Given the description of an element on the screen output the (x, y) to click on. 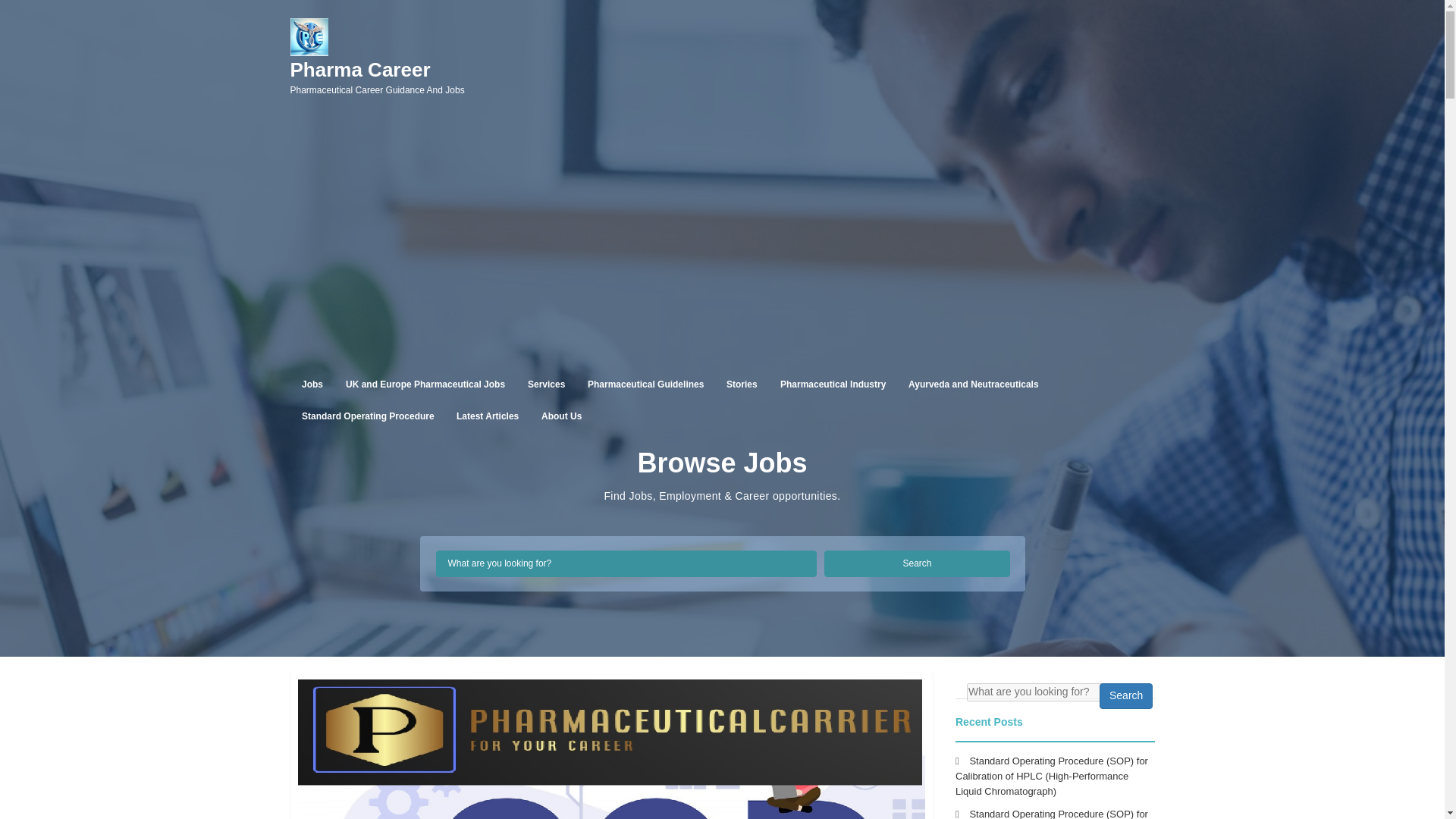
Stories (741, 384)
About Us (560, 416)
Standard Operating Procedure (367, 416)
Pharmaceutical Guidelines (645, 384)
UK and Europe Pharmaceutical Jobs (425, 384)
Ayurveda and Neutraceuticals (376, 77)
Search (973, 384)
Services (917, 563)
Pharmaceutical Industry (545, 384)
Latest Articles (832, 384)
